Given the description of an element on the screen output the (x, y) to click on. 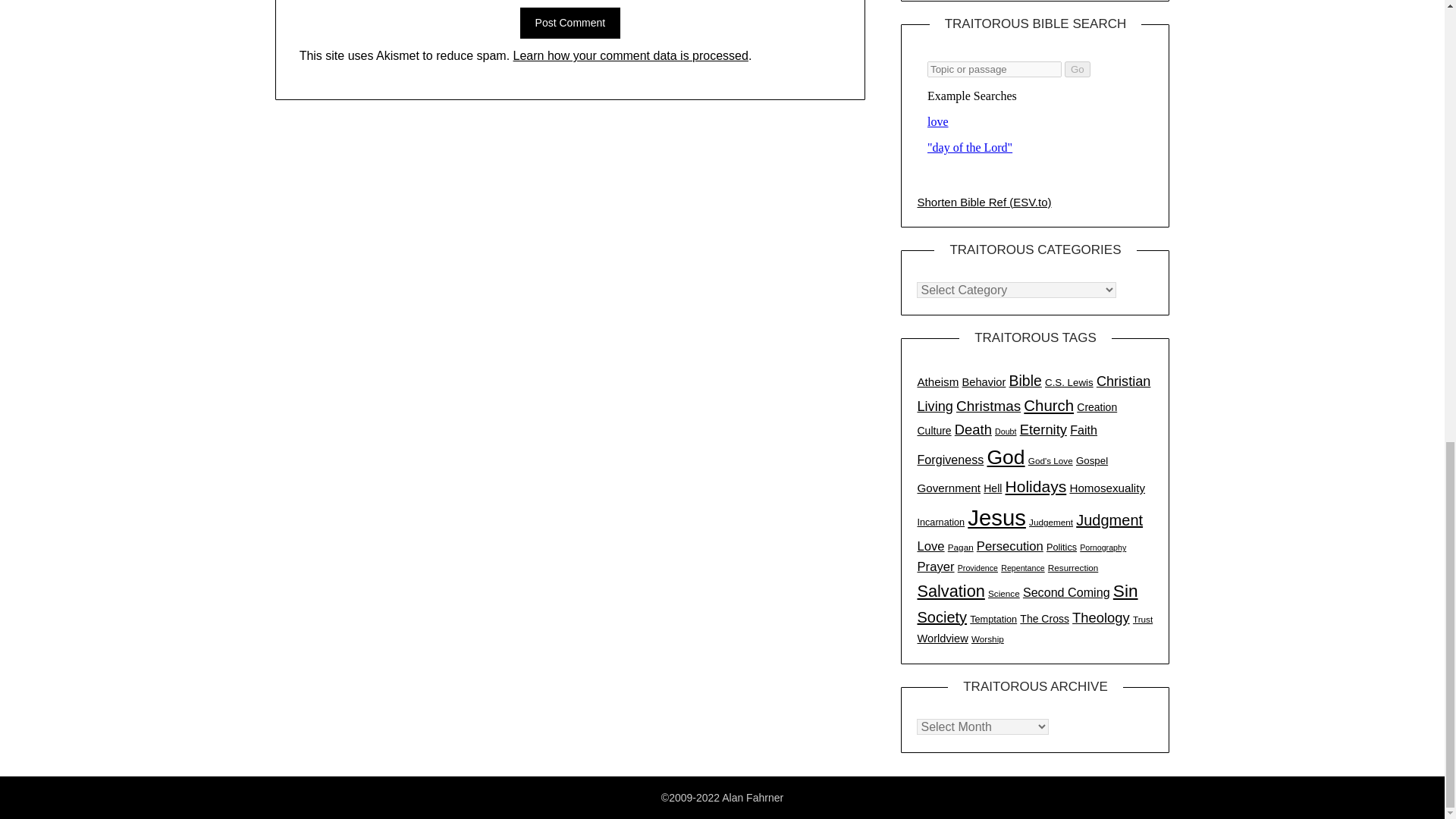
Christmas (988, 406)
C.S. Lewis (1069, 382)
Behavior (984, 381)
Learn how your comment data is processed (630, 55)
Bible (1025, 380)
Post Comment (570, 22)
Post Comment (570, 22)
Church (1048, 405)
Atheism (937, 381)
Christian Living (1033, 393)
